Given the description of an element on the screen output the (x, y) to click on. 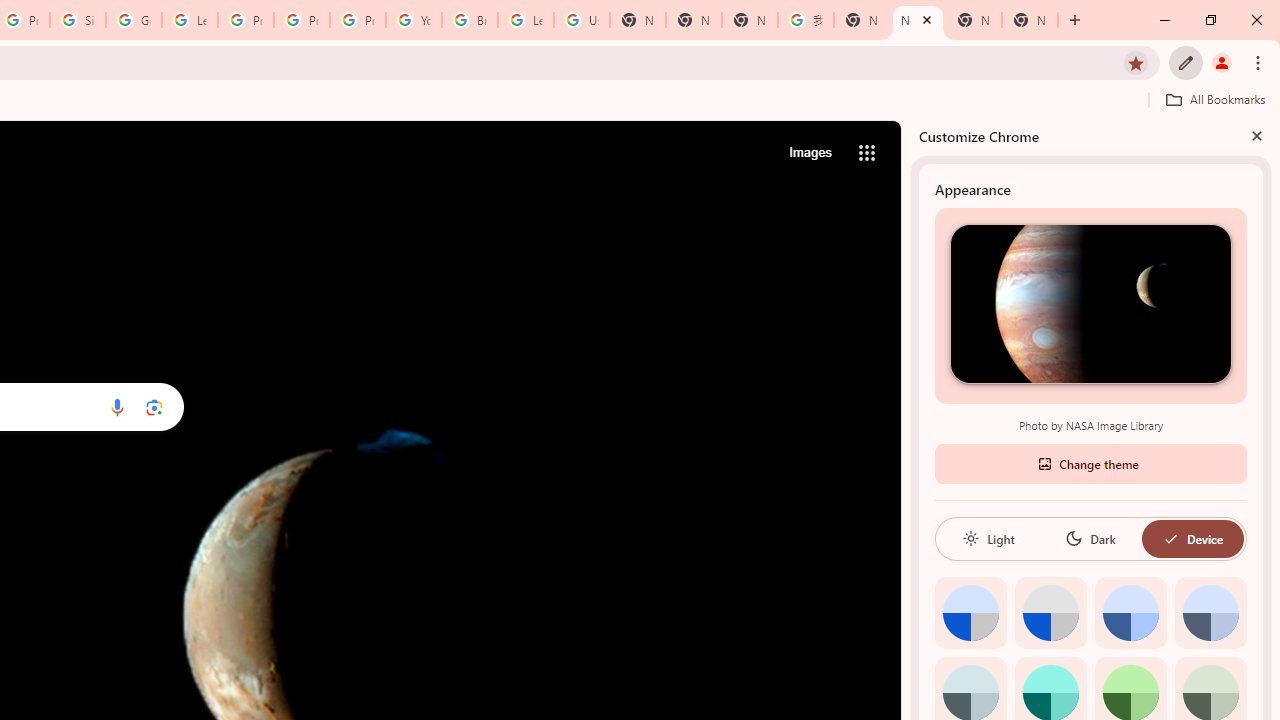
Blue (1130, 612)
Browse Chrome as a guest - Computer - Google Chrome Help (469, 20)
Dark (1090, 538)
Privacy Help Center - Policies Help (301, 20)
Change theme (1090, 462)
Sign in - Google Accounts (77, 20)
New Tab (1030, 20)
